Given the description of an element on the screen output the (x, y) to click on. 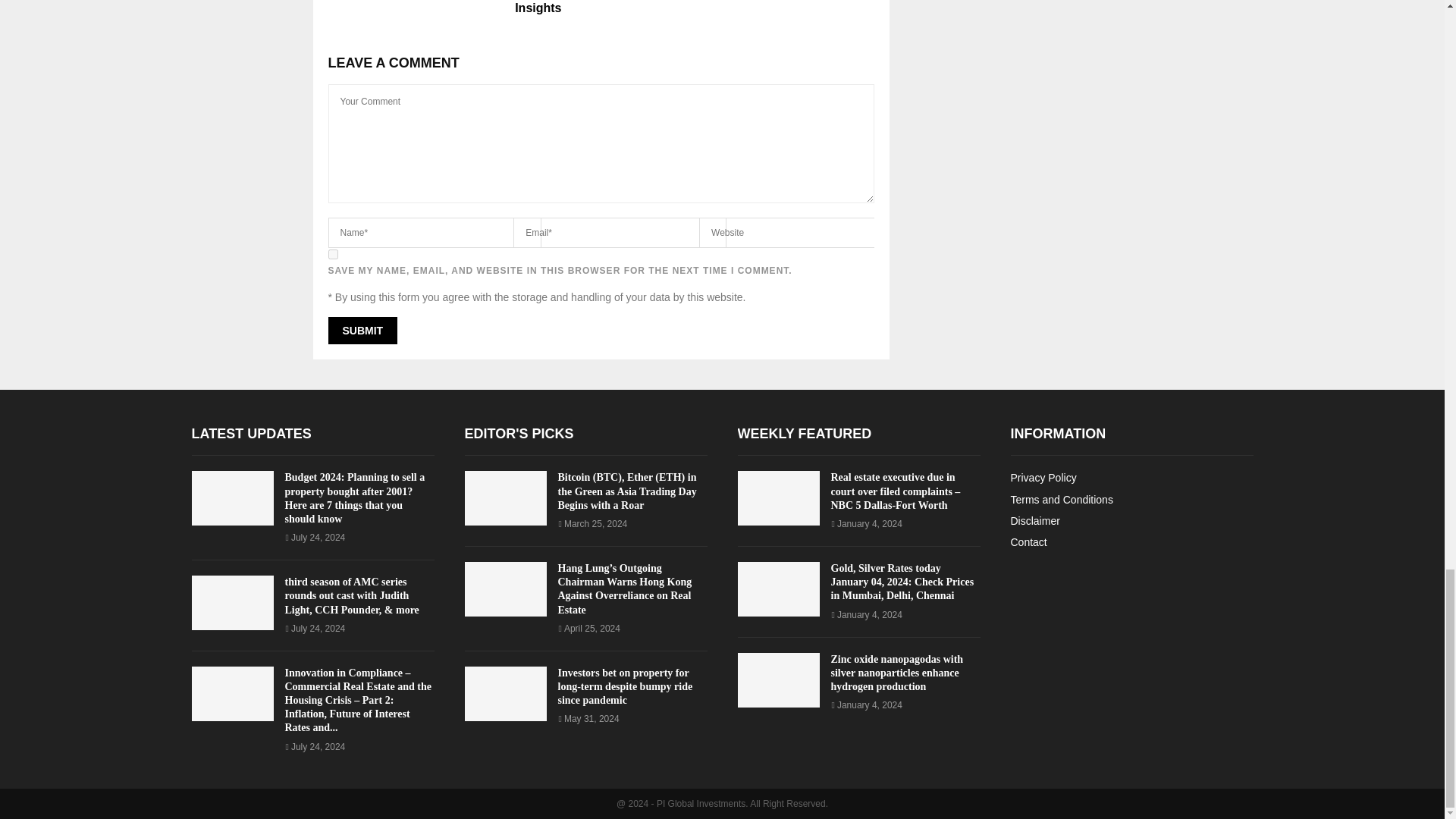
yes (332, 254)
Submit (362, 329)
